Given the description of an element on the screen output the (x, y) to click on. 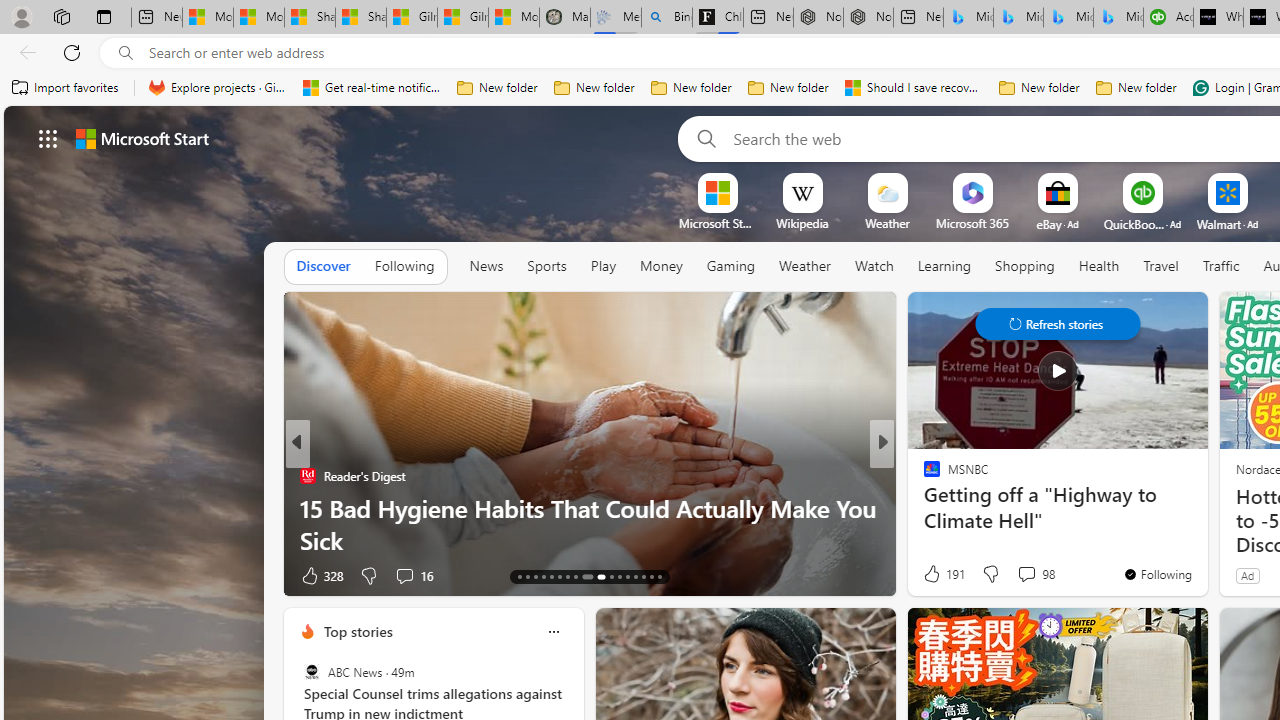
191 Like (942, 574)
View comments 98 Comment (1026, 573)
AutomationID: tab-29 (659, 576)
AutomationID: tab-13 (518, 576)
AutomationID: tab-22 (597, 576)
View comments 56 Comment (1029, 574)
View comments 16 Comment (404, 575)
Start the conversation (1007, 574)
Axios (923, 475)
News (486, 265)
